Given the description of an element on the screen output the (x, y) to click on. 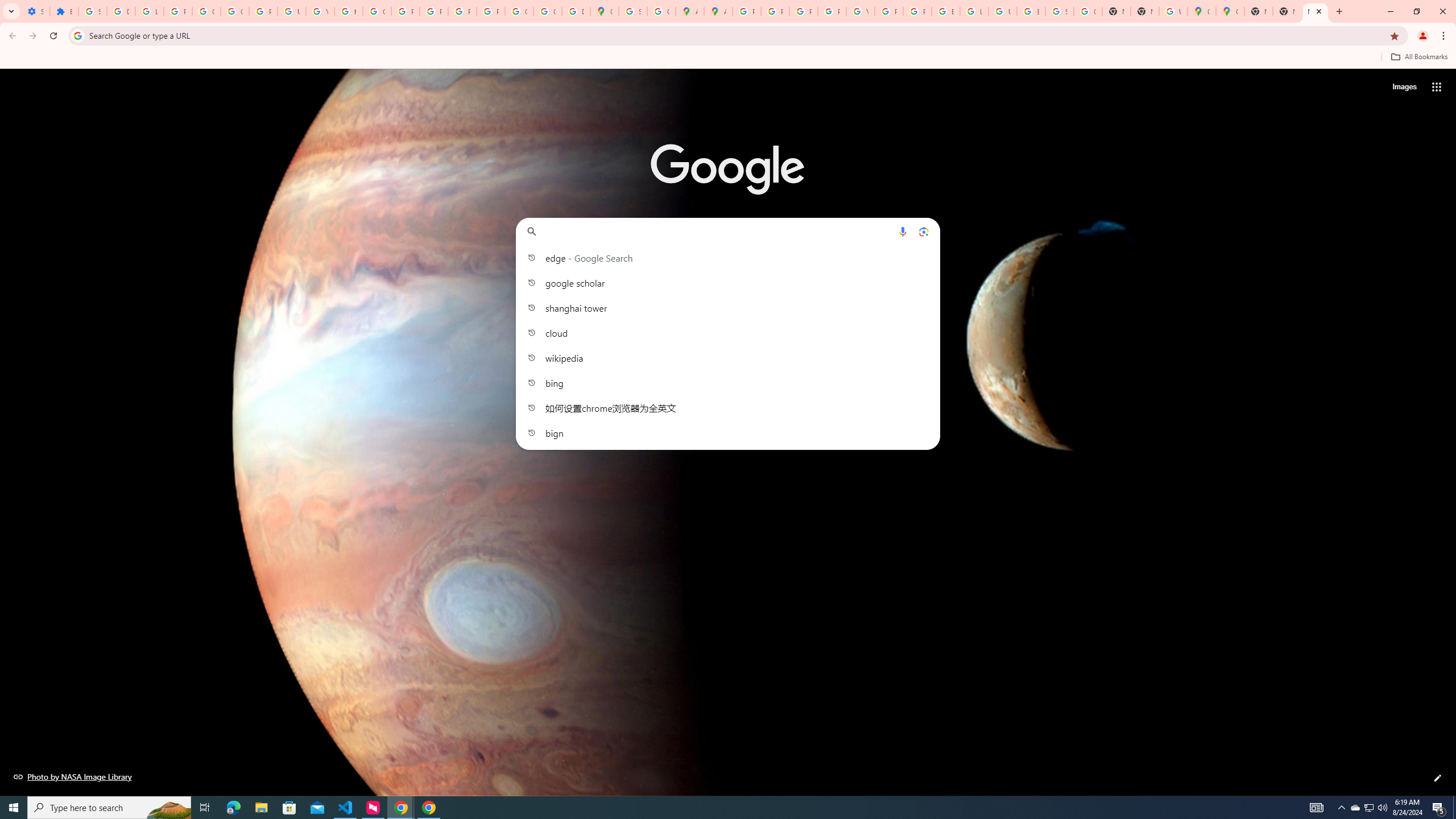
Sign in - Google Accounts (92, 11)
